Given the description of an element on the screen output the (x, y) to click on. 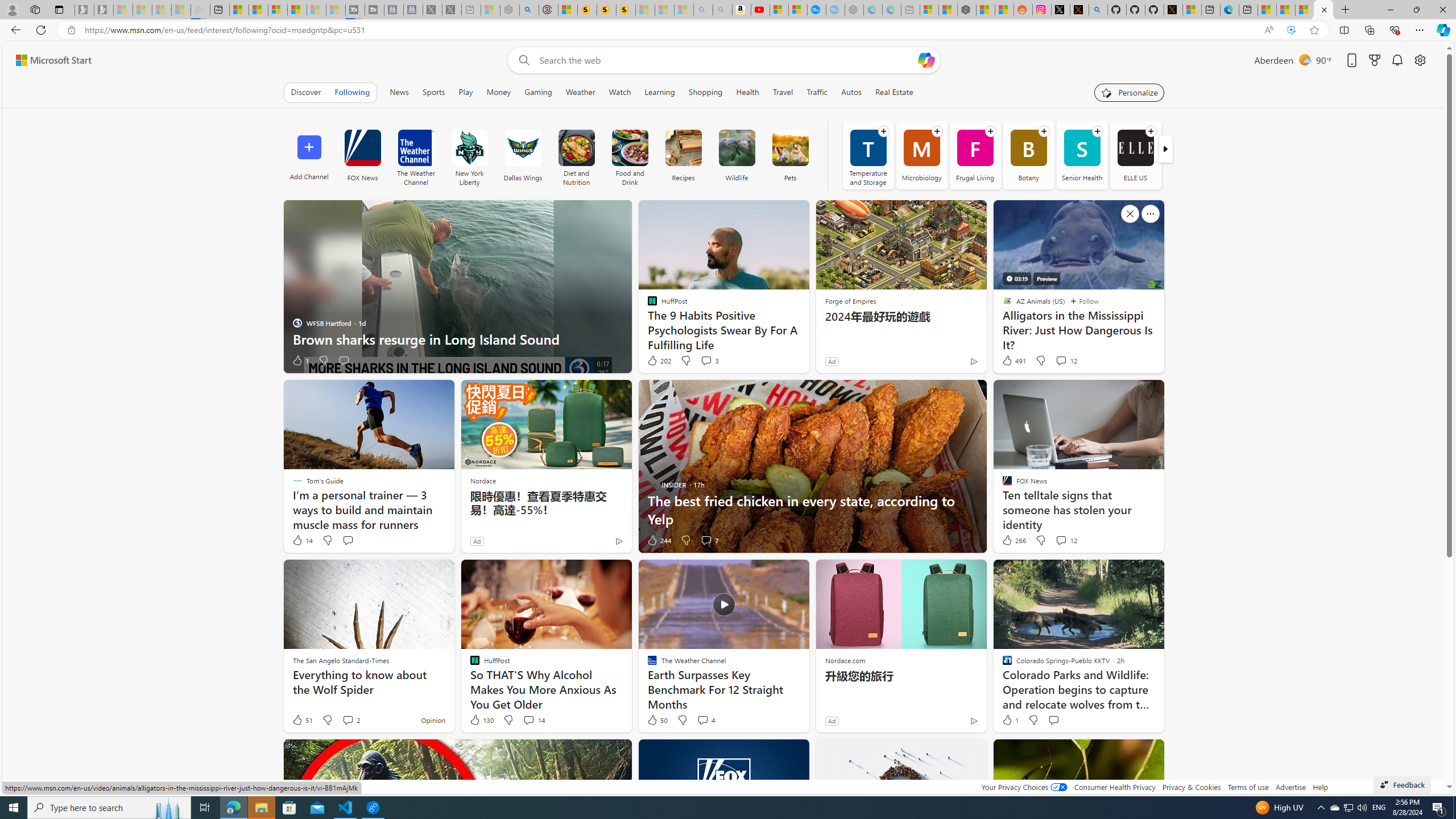
View comments 7 Comment (709, 539)
Consumer Health Privacy (1115, 786)
202 Like (658, 360)
Overview (277, 9)
